Given the description of an element on the screen output the (x, y) to click on. 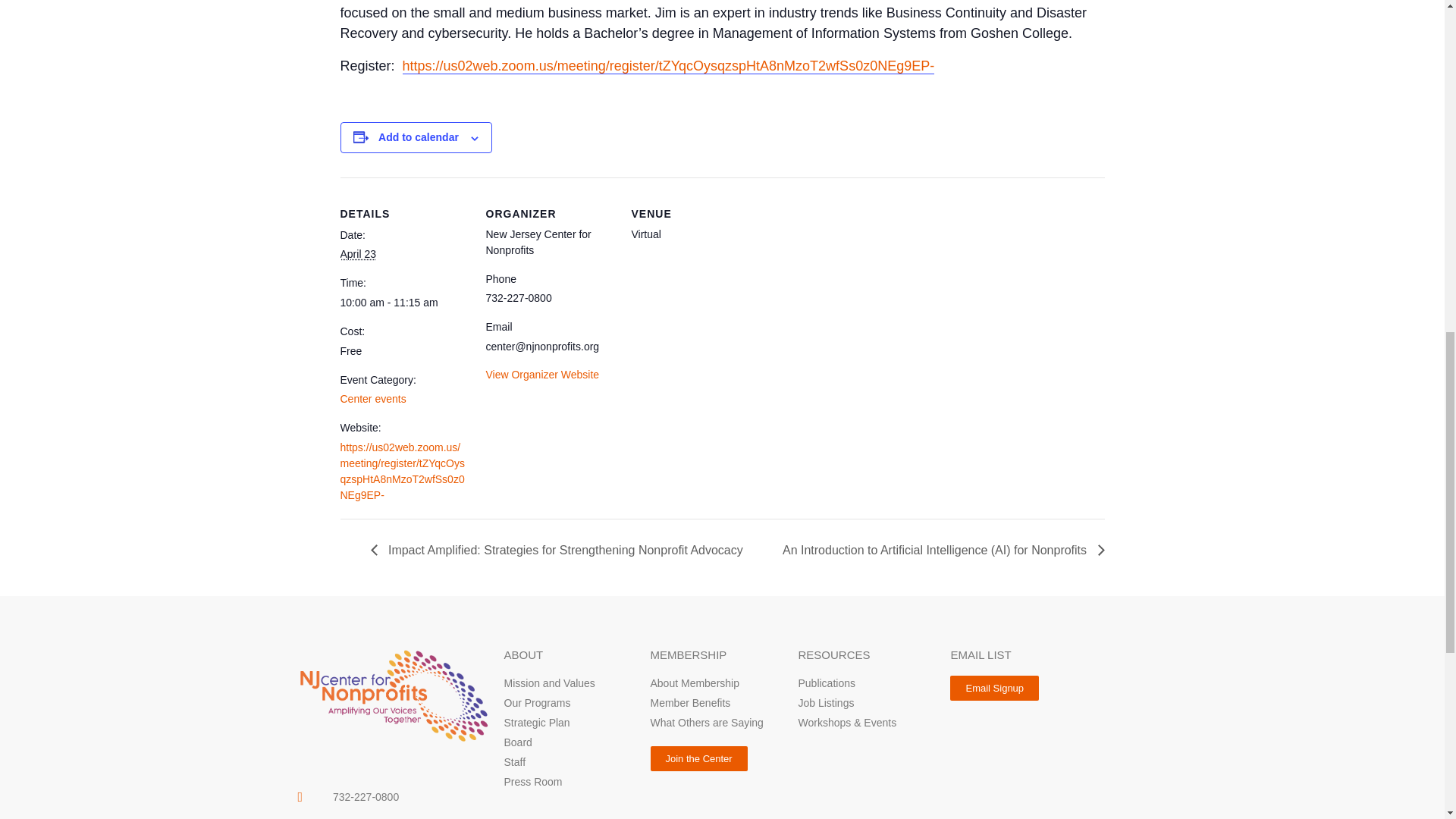
2024-04-23 (357, 254)
2024-04-23 (403, 302)
